Given the description of an element on the screen output the (x, y) to click on. 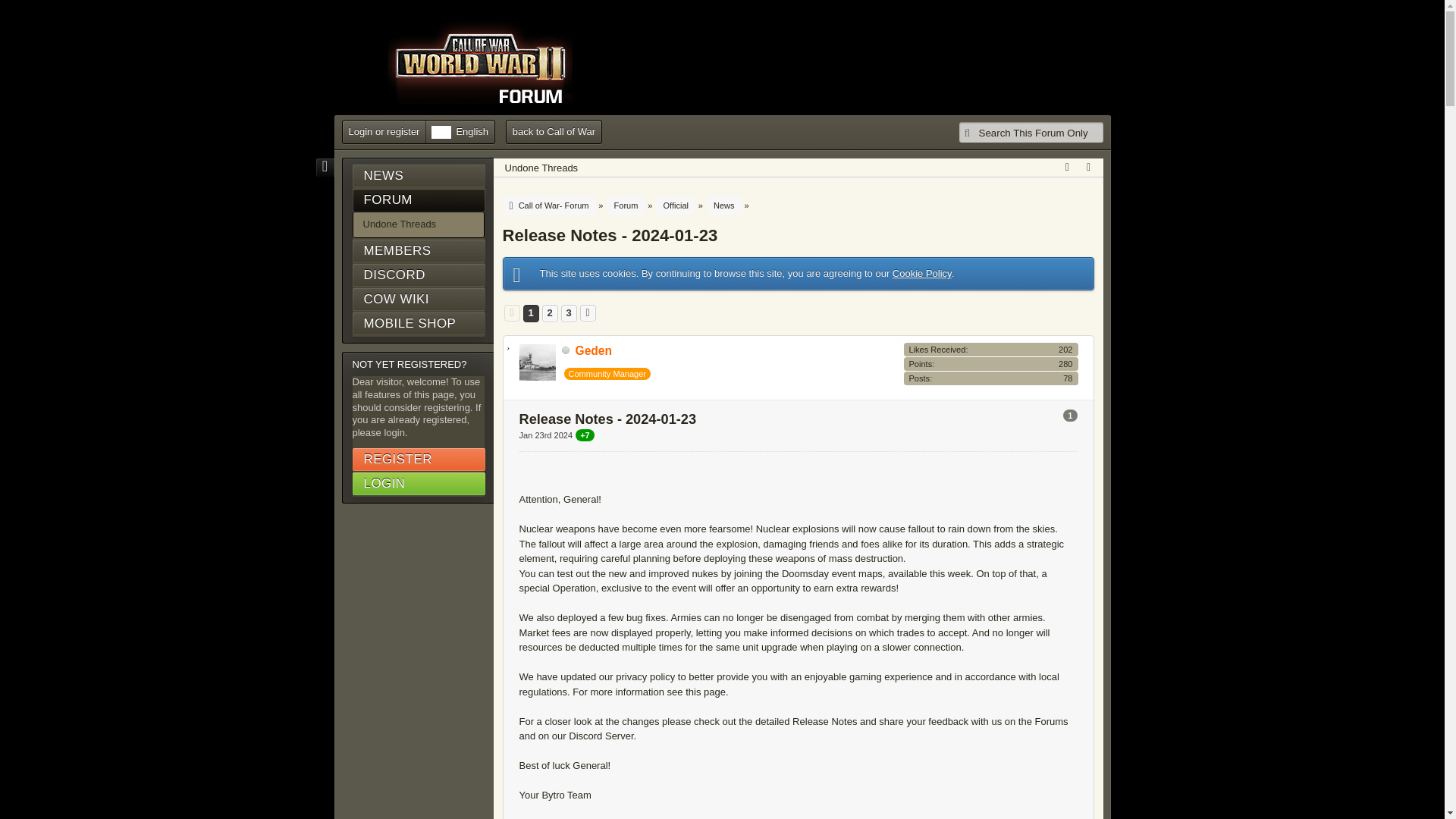
Geden is online (565, 349)
Call of War- Forum (552, 205)
1 (1069, 415)
2 (550, 313)
Undone Threads (541, 166)
Page 3 (567, 313)
Forum (628, 205)
Forum (626, 205)
Official (675, 205)
Release Notes - 2024-01-23 (609, 235)
Cookie Policy (922, 273)
LOGIN (418, 483)
Posts (919, 378)
NEWS (418, 175)
3 (567, 313)
